Given the description of an element on the screen output the (x, y) to click on. 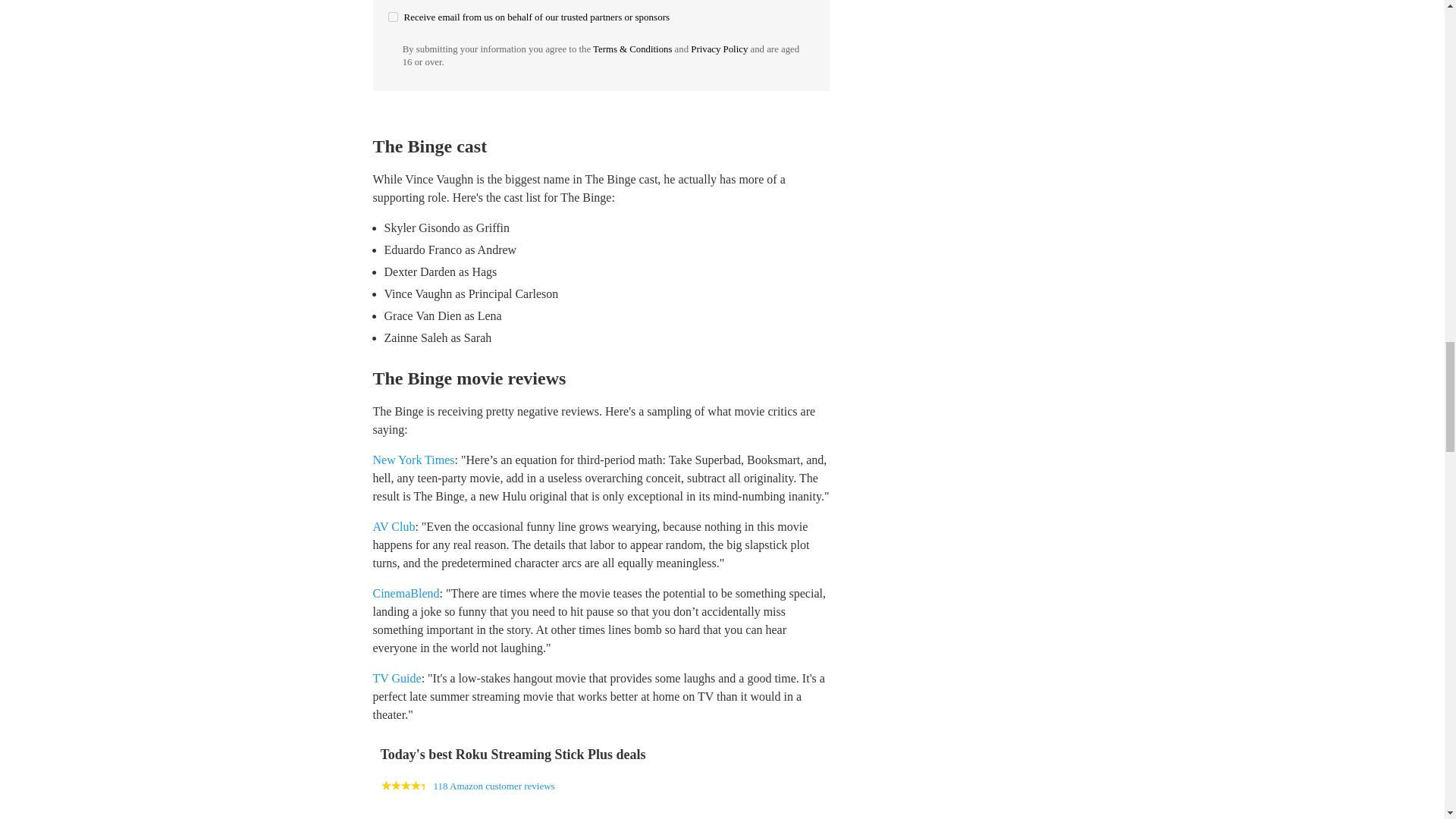
on (392, 17)
